Given the description of an element on the screen output the (x, y) to click on. 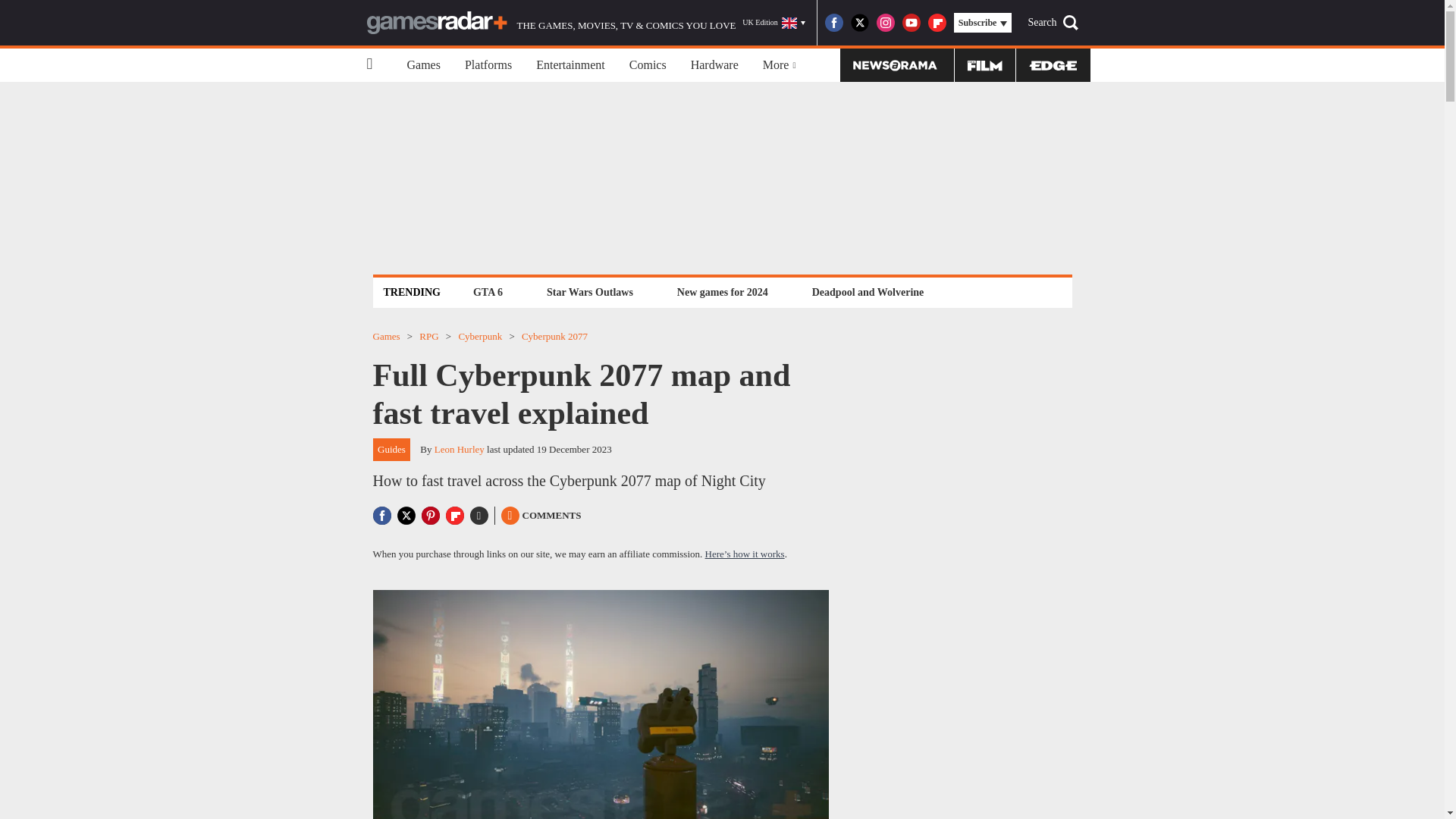
New games for 2024 (722, 292)
Star Wars Outlaws (590, 292)
Deadpool and Wolverine (868, 292)
Platforms (488, 64)
Hardware (714, 64)
Comics (647, 64)
UK Edition (773, 22)
Games (422, 64)
GTA 6 (487, 292)
Entertainment (570, 64)
